Given the description of an element on the screen output the (x, y) to click on. 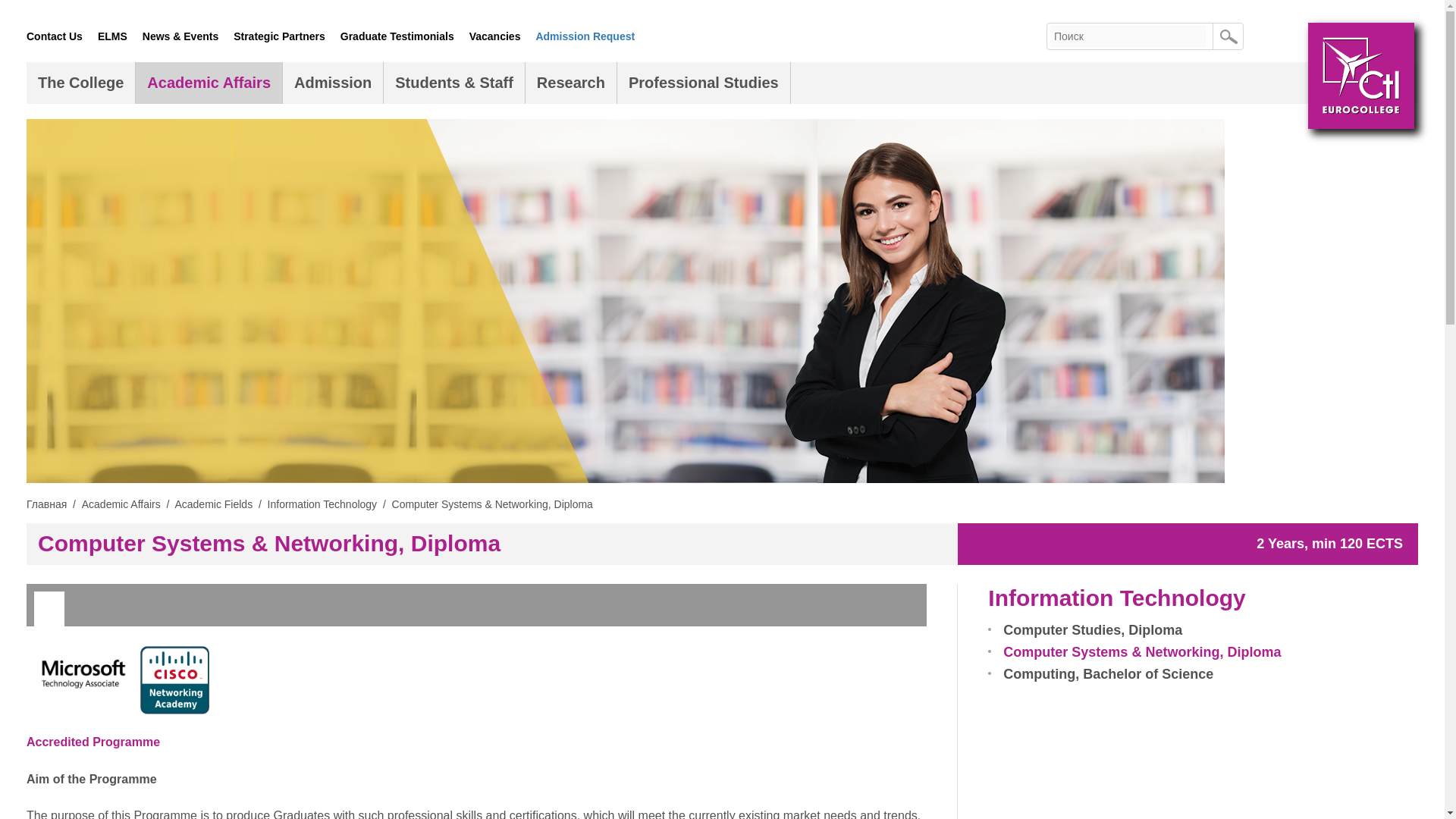
Strategic Partners (278, 36)
ELMS (112, 36)
Academic Affairs (208, 83)
Vacancies (494, 36)
Admission (332, 83)
Academic Affairs (208, 83)
Graduate Testimonials (397, 36)
The College (80, 83)
Admission Request (584, 36)
